Given the description of an element on the screen output the (x, y) to click on. 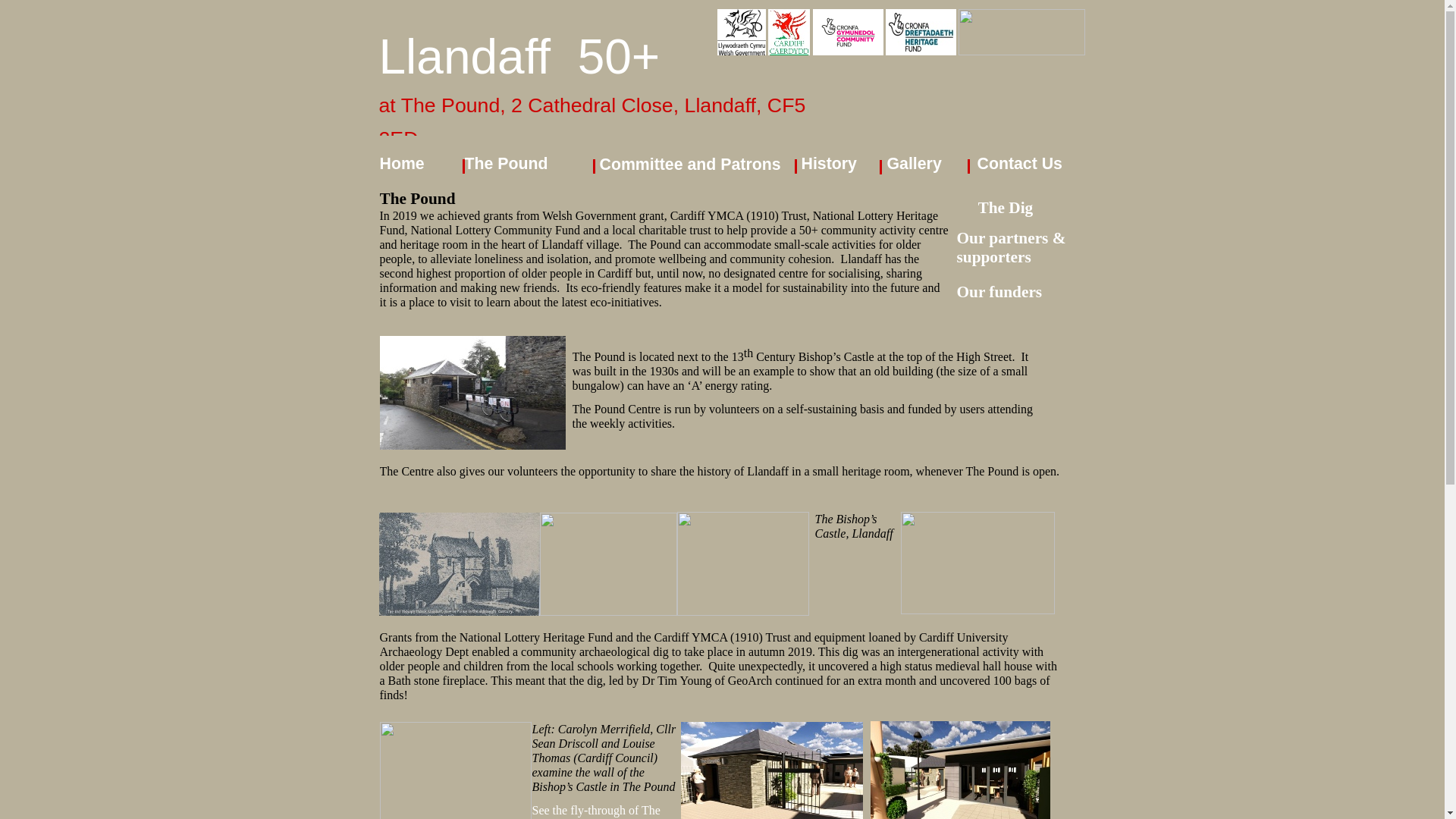
The Pound (505, 163)
Our funders (999, 291)
History (828, 163)
The Dig (1005, 208)
Committee and Patrons (689, 164)
Gallery (914, 163)
See the fly-through of The Pound (596, 811)
Contact Us (1018, 163)
Home (400, 163)
